Given the description of an element on the screen output the (x, y) to click on. 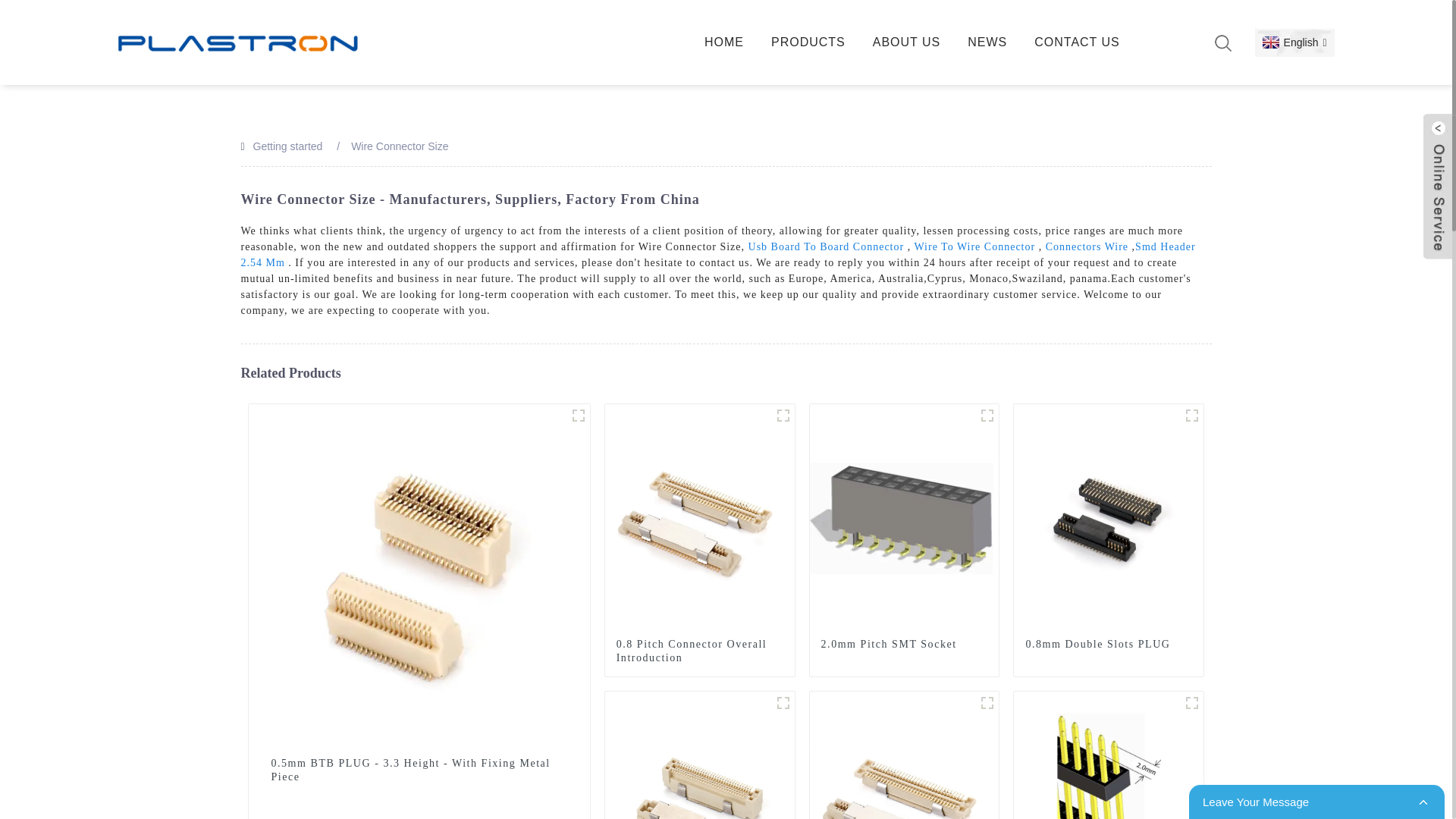
2.0mm Pitch SMT Socket (903, 517)
Connectors Wire (1086, 246)
0.5mm BTB PLUG - 3.3 Height - With Fixing Metal Piece (418, 769)
PRODUCTS (808, 42)
Usb Board To Board Connector (826, 246)
Connectors Wire (1086, 246)
CONTACT US (1077, 42)
Wire Connector Size (399, 146)
0.8mm DOUBLE ROW CONTACT BTB CONNECTOR PLUG (1192, 415)
0.5mm BT CONNECTOR PLUG (578, 415)
